Given the description of an element on the screen output the (x, y) to click on. 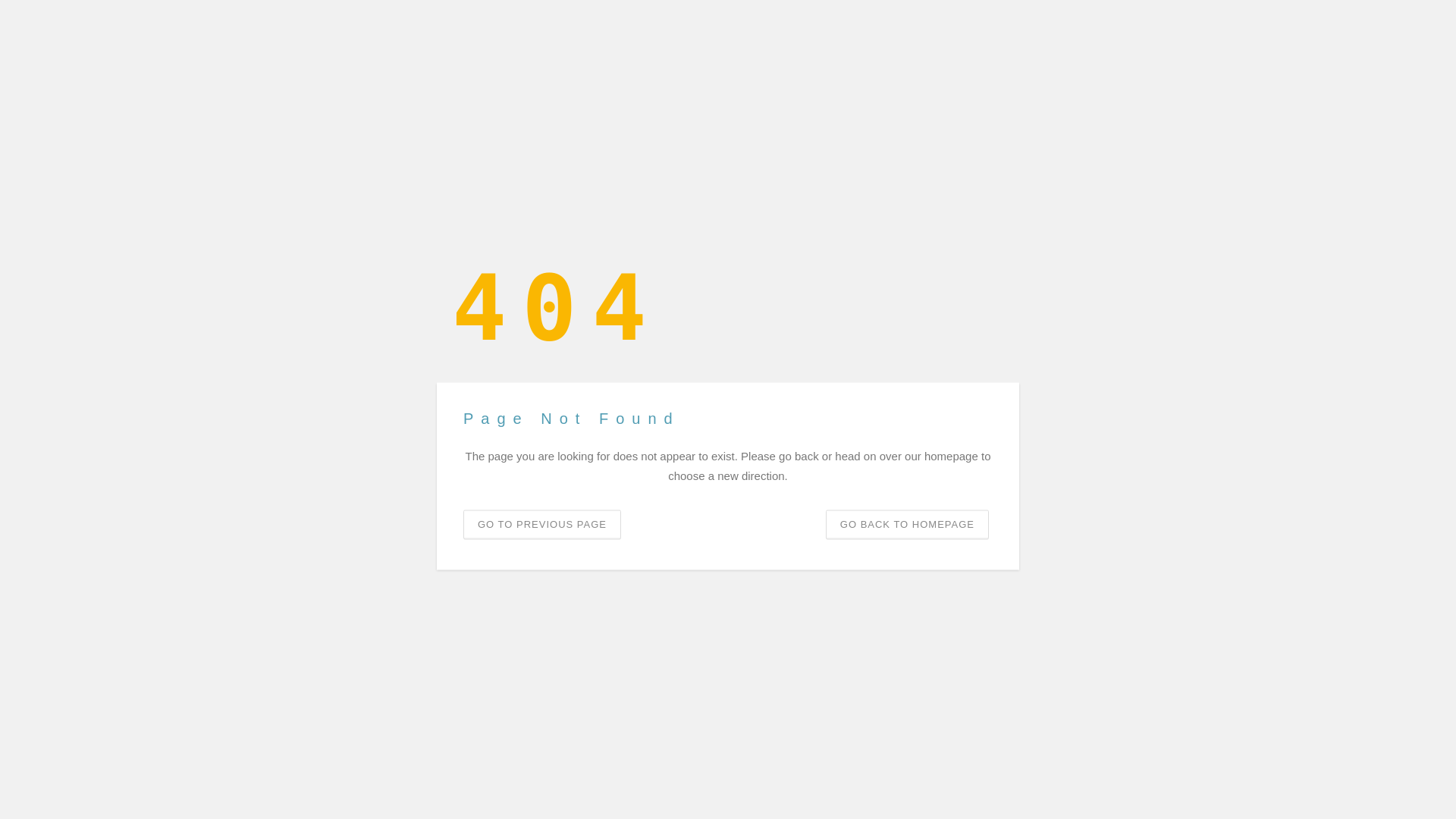
GO TO PREVIOUS PAGE (542, 523)
GO BACK TO HOMEPAGE (906, 523)
